Given the description of an element on the screen output the (x, y) to click on. 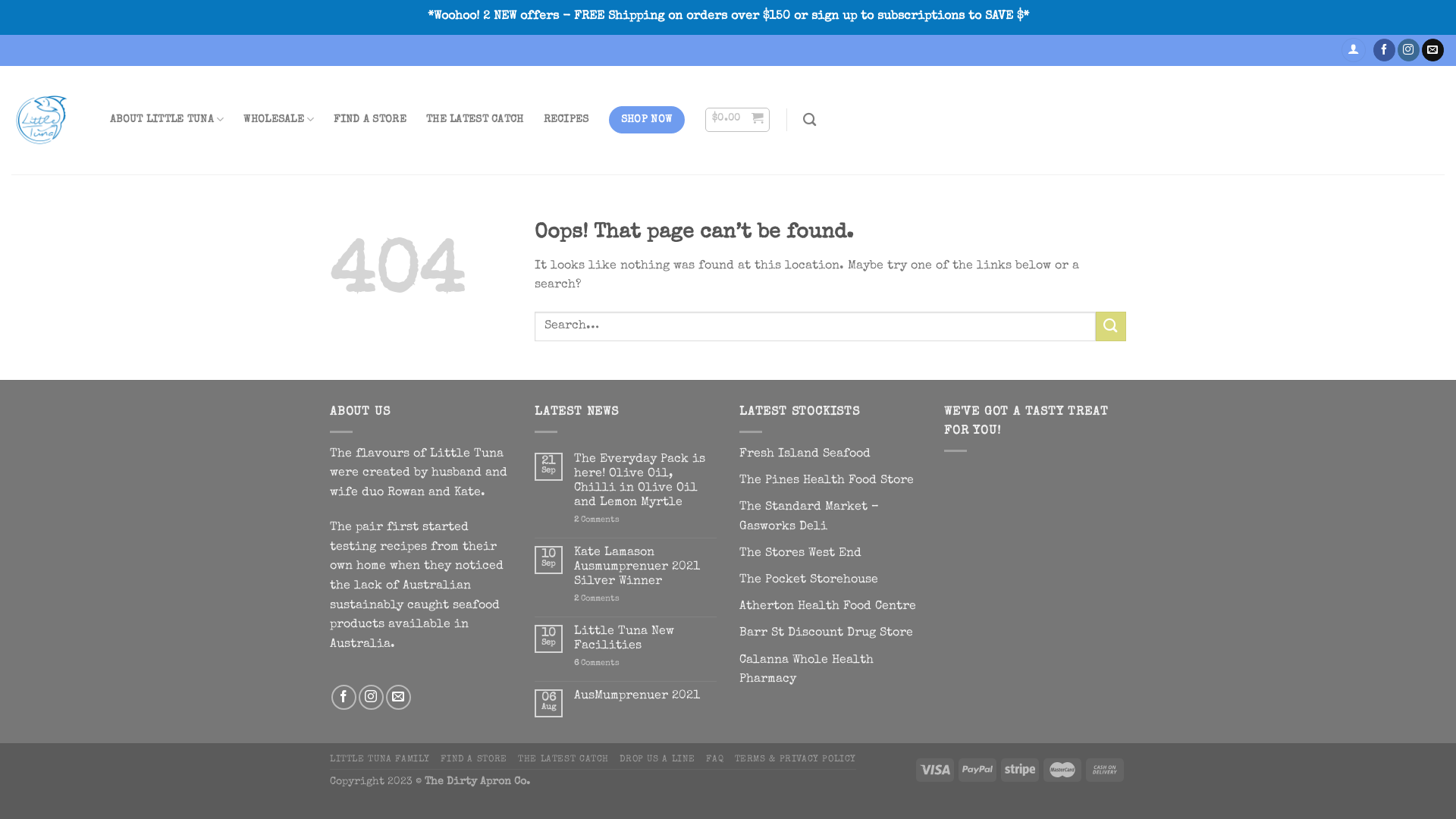
DROP US A LINE Element type: text (657, 758)
FAQ Element type: text (714, 758)
2 Comments Element type: text (645, 519)
TERMS & PRIVACY POLICY Element type: text (795, 758)
Kate Lamason Ausmumprenuer 2021 Silver Winner Element type: text (645, 567)
2 Comments Element type: text (645, 598)
FIND A STORE Element type: text (369, 119)
THE LATEST CATCH Element type: text (562, 758)
RECIPES Element type: text (566, 119)
Little Tuna - Catch Your Favourite Flavours Element type: hover (41, 119)
SHOP NOW Element type: text (646, 119)
WHOLESALE Element type: text (278, 119)
AusMumprenuer 2021 Element type: text (645, 696)
ABOUT LITTLE TUNA Element type: text (166, 119)
6 Comments Element type: text (645, 663)
LITTLE TUNA FAMILY Element type: text (379, 758)
THE LATEST CATCH Element type: text (475, 119)
FIND A STORE Element type: text (473, 758)
$0.00 Element type: text (737, 119)
Little Tuna New Facilities Element type: text (645, 638)
